Given the description of an element on the screen output the (x, y) to click on. 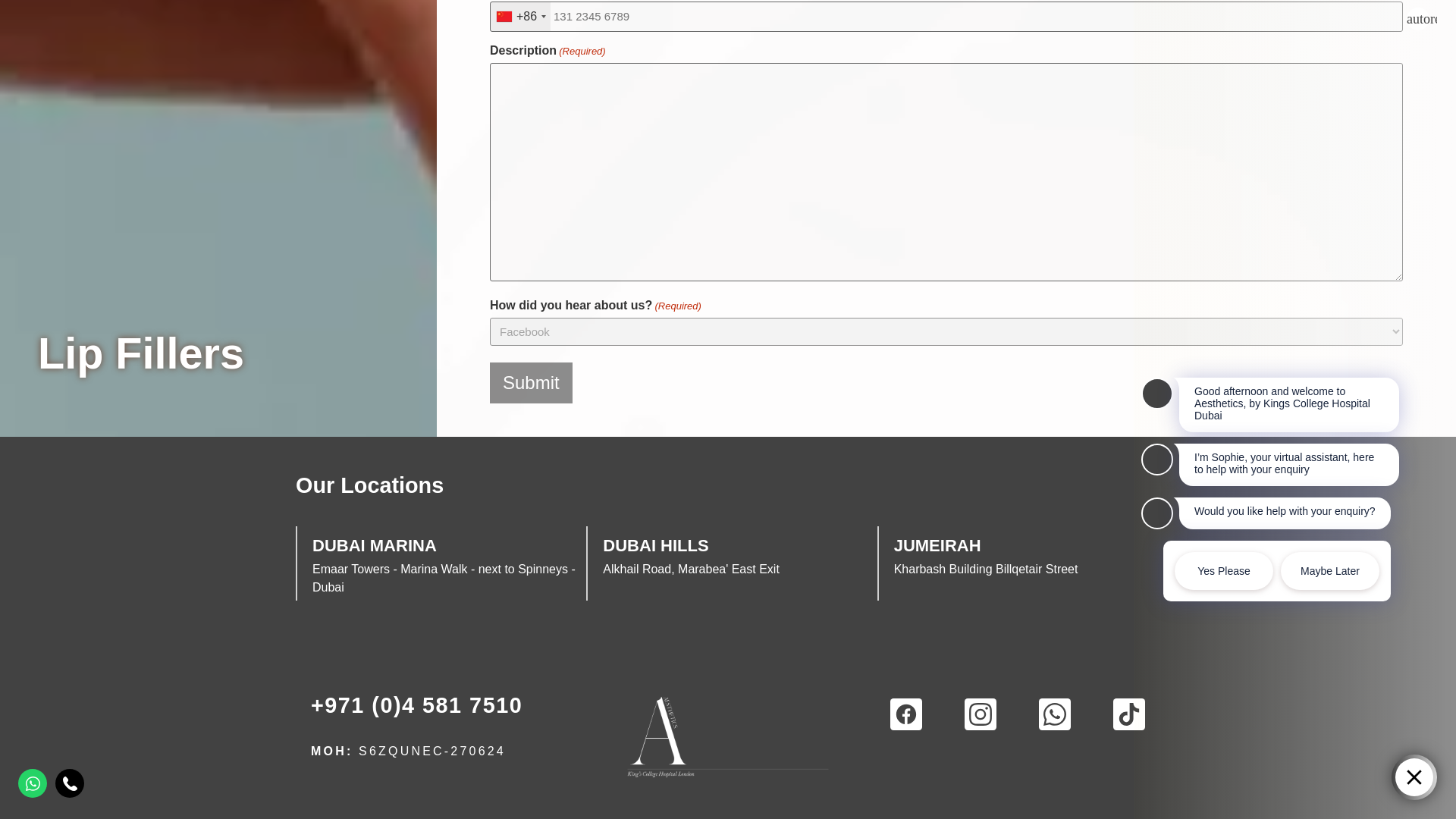
Submit (530, 382)
China (520, 16)
white-logo-mobile-compressed - Aesthetic Surgery Clinic (727, 736)
Submit (530, 382)
